Given the description of an element on the screen output the (x, y) to click on. 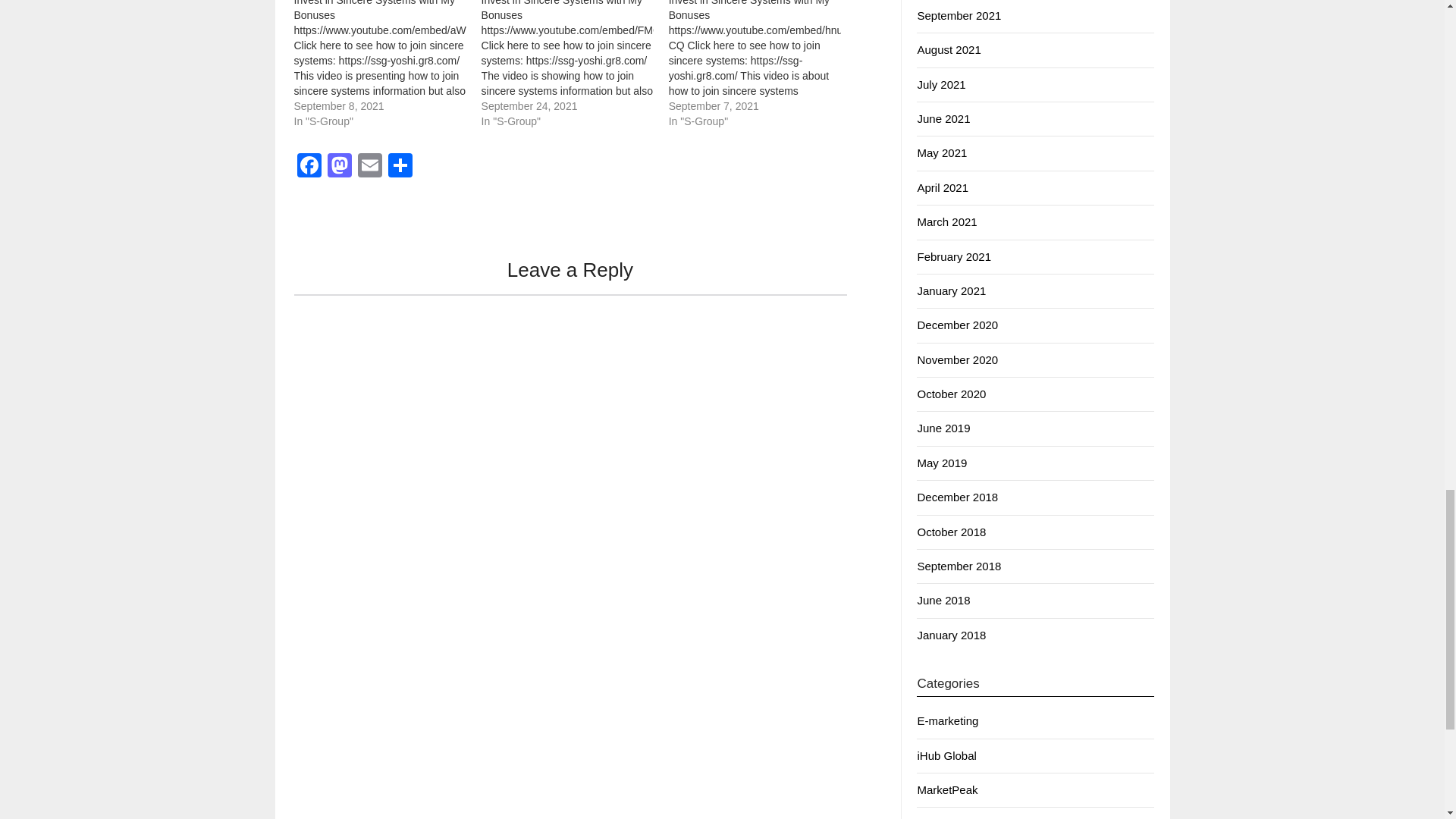
Mastodon (339, 166)
Email (370, 166)
Email (370, 166)
Facebook (309, 166)
Facebook (309, 166)
Mastodon (339, 166)
